Given the description of an element on the screen output the (x, y) to click on. 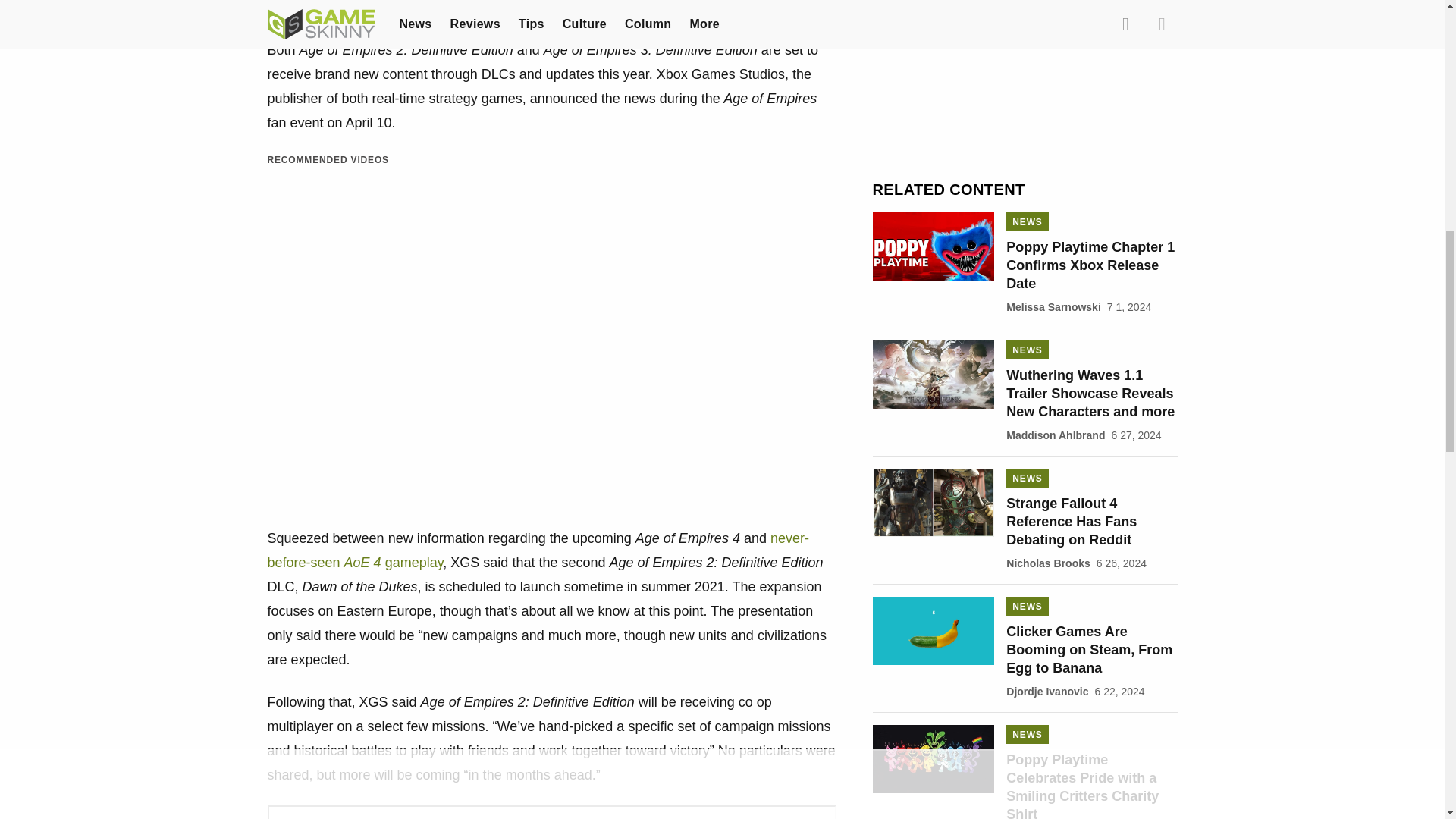
never-before-seen AoE 4 gameplay (537, 550)
3rd party ad content (1024, 83)
